Given the description of an element on the screen output the (x, y) to click on. 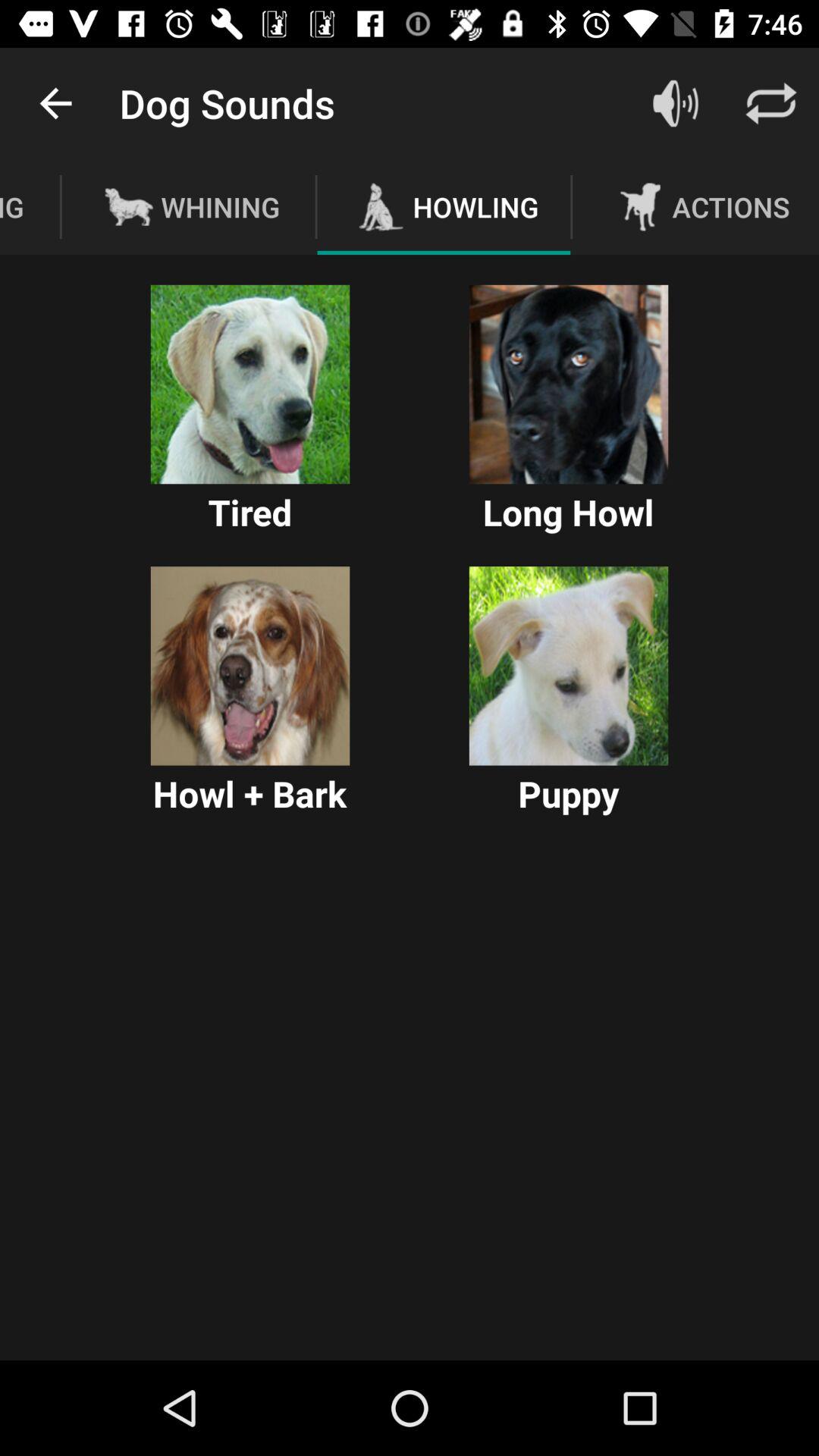
open icon next to the howling icon (675, 103)
